Given the description of an element on the screen output the (x, y) to click on. 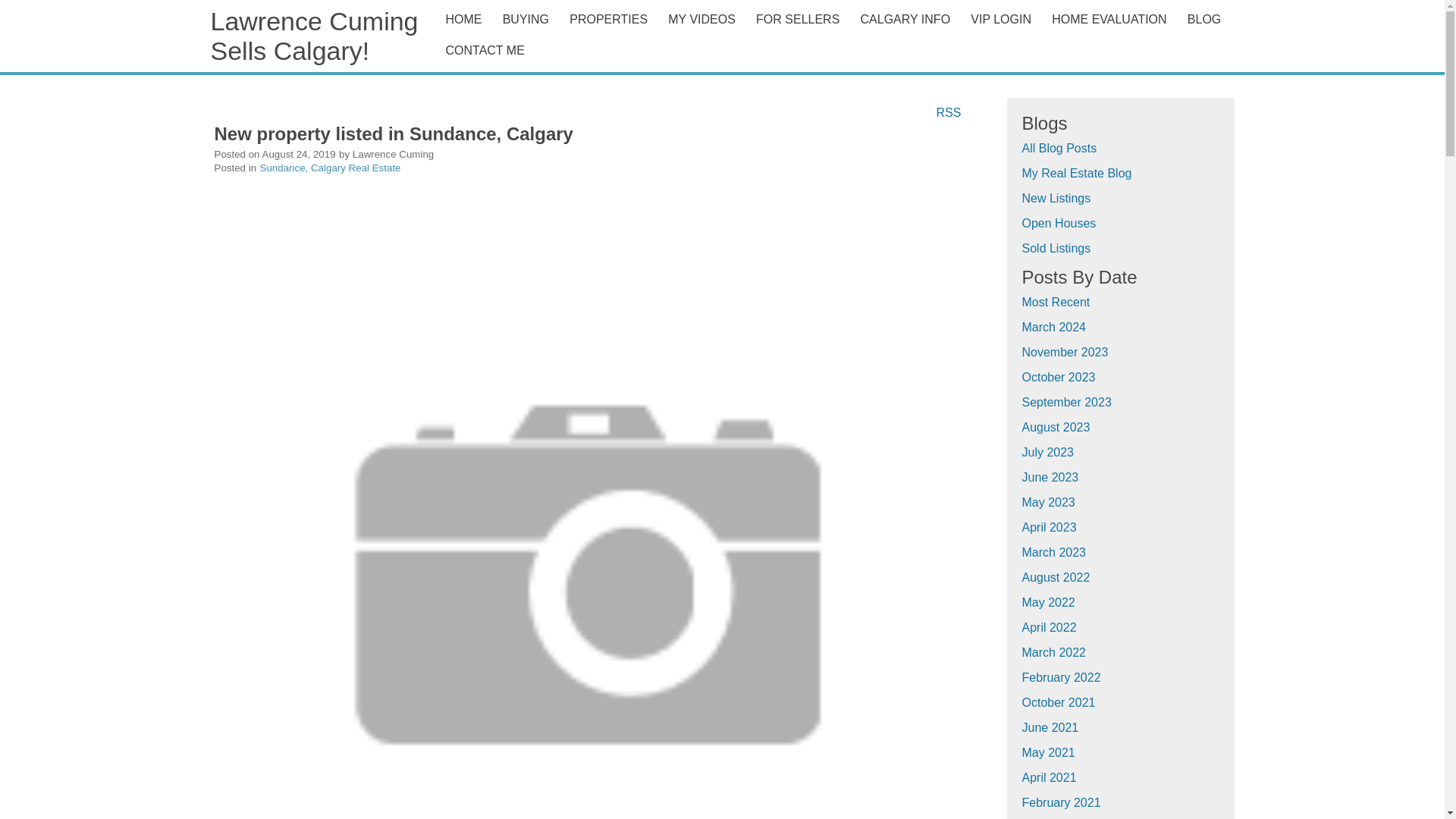
FOR SELLERS (797, 18)
VIP LOGIN (1002, 18)
All Blog Posts (1059, 147)
HOME EVALUATION (1111, 18)
CALGARY INFO (905, 18)
RSS (949, 111)
BLOG (1206, 18)
PROPERTIES (608, 18)
HOME (466, 18)
BUYING (525, 18)
My Real Estate Blog (1077, 173)
CONTACT ME (836, 50)
MY VIDEOS (704, 18)
Sundance, Calgary Real Estate (330, 167)
